Given the description of an element on the screen output the (x, y) to click on. 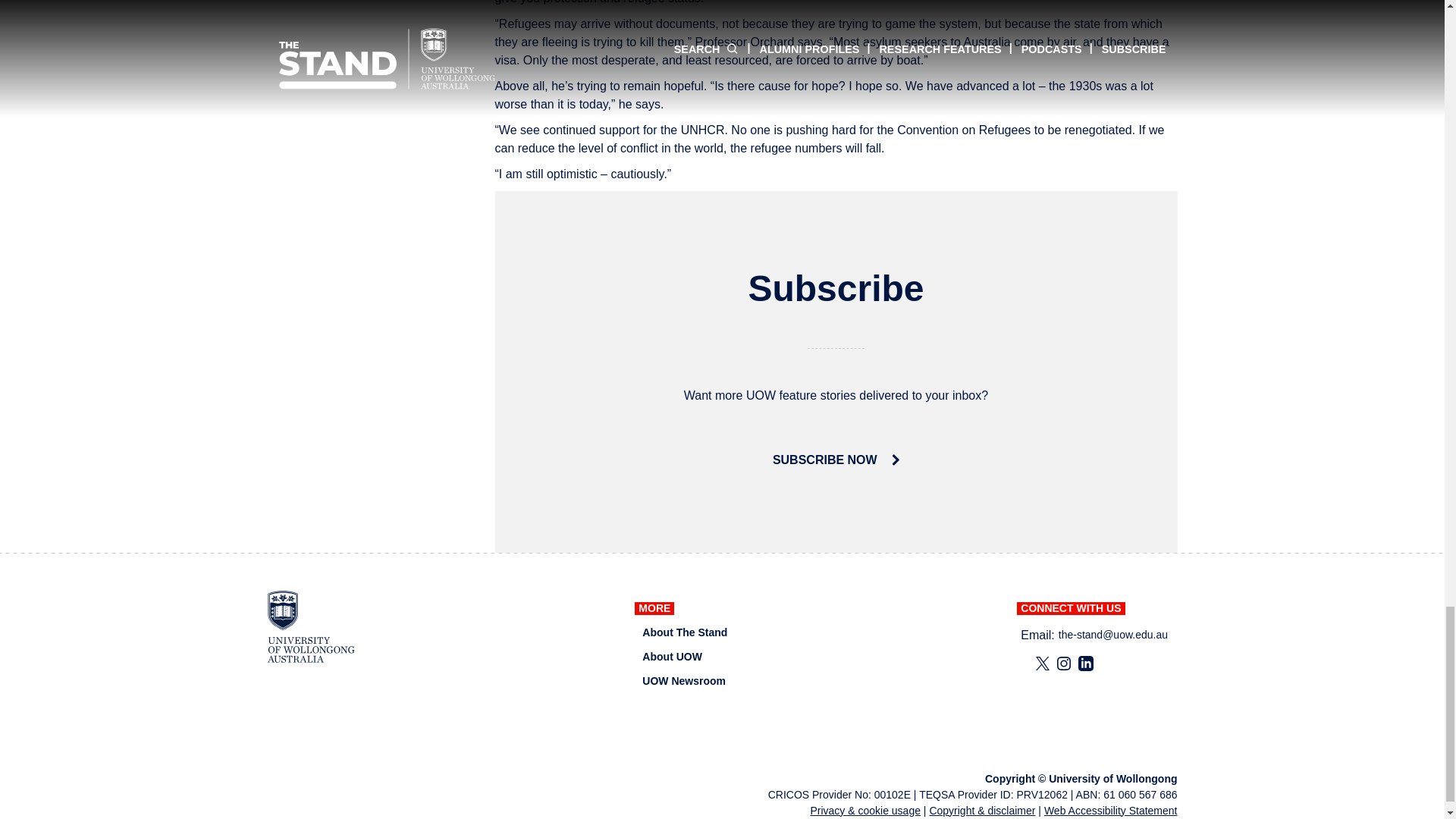
Instagram (1063, 663)
LinkedIn (1085, 663)
About The Stand (684, 632)
Web Accessibility Statement (1110, 810)
UOW Newsroom (683, 680)
X - formerly known as twitter (1042, 663)
About UOW (671, 656)
SUBSCRIBE NOW (835, 459)
